Given the description of an element on the screen output the (x, y) to click on. 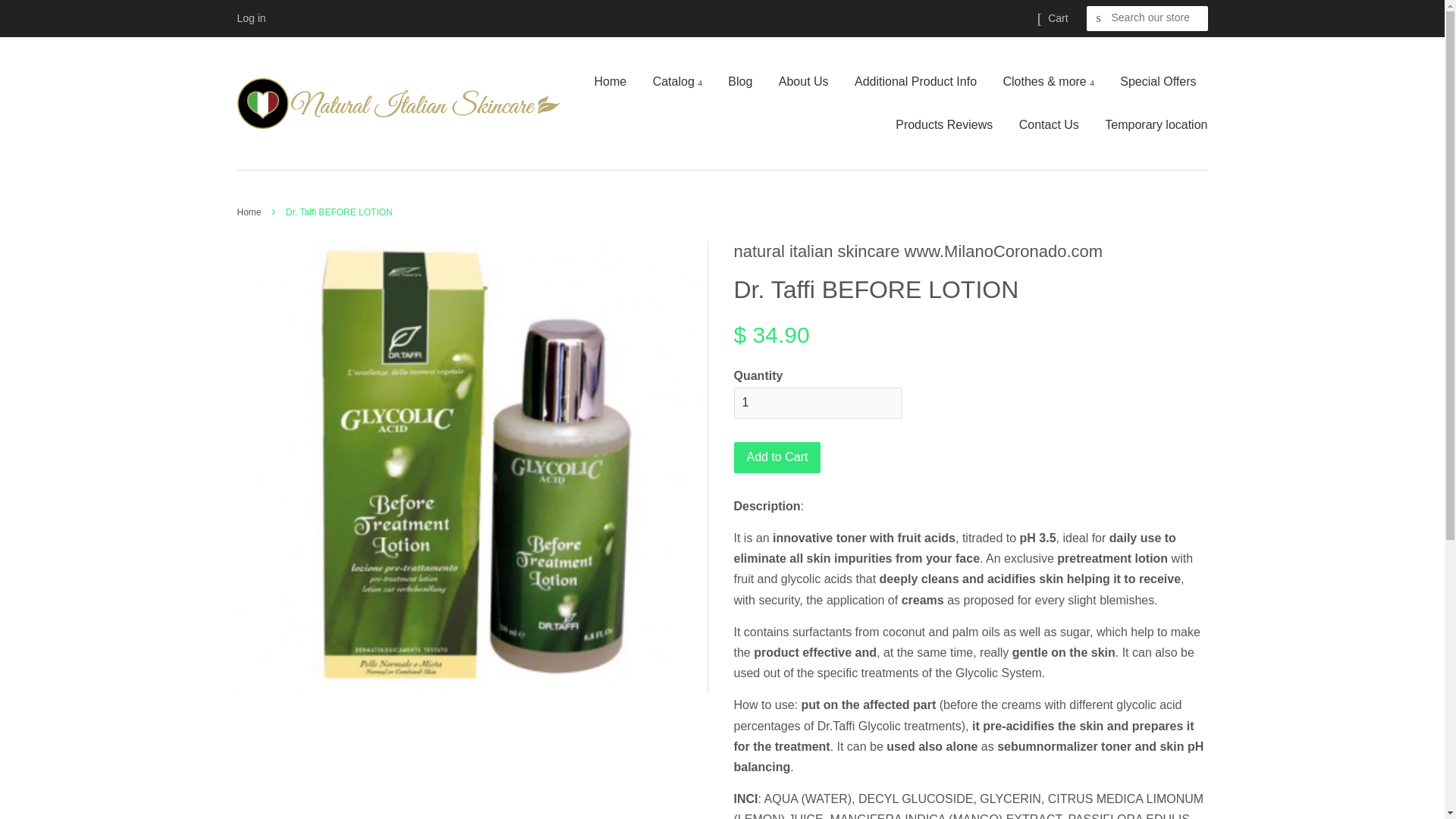
Back to the frontpage (249, 212)
Log in (249, 18)
Cart (1057, 18)
1 (817, 402)
Search (1097, 18)
